Given the description of an element on the screen output the (x, y) to click on. 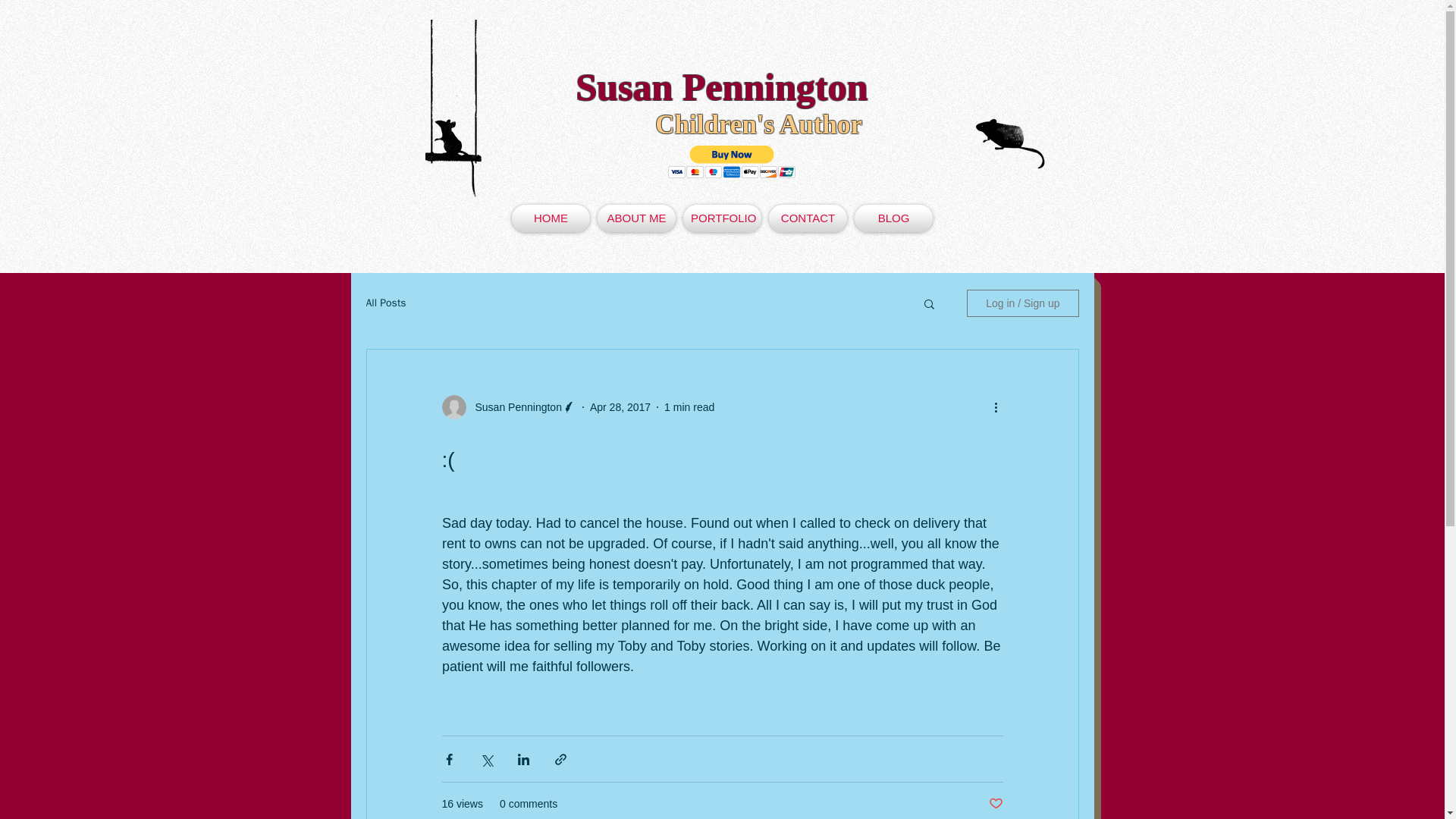
Susan Pennington (721, 87)
Susan Pennington (512, 406)
PORTFOLIO (722, 217)
Post not marked as liked (995, 804)
HOME (551, 217)
Apr 28, 2017 (619, 406)
BLOG (893, 217)
CONTACT (807, 217)
All Posts (385, 303)
ABOUT ME (636, 217)
